Given the description of an element on the screen output the (x, y) to click on. 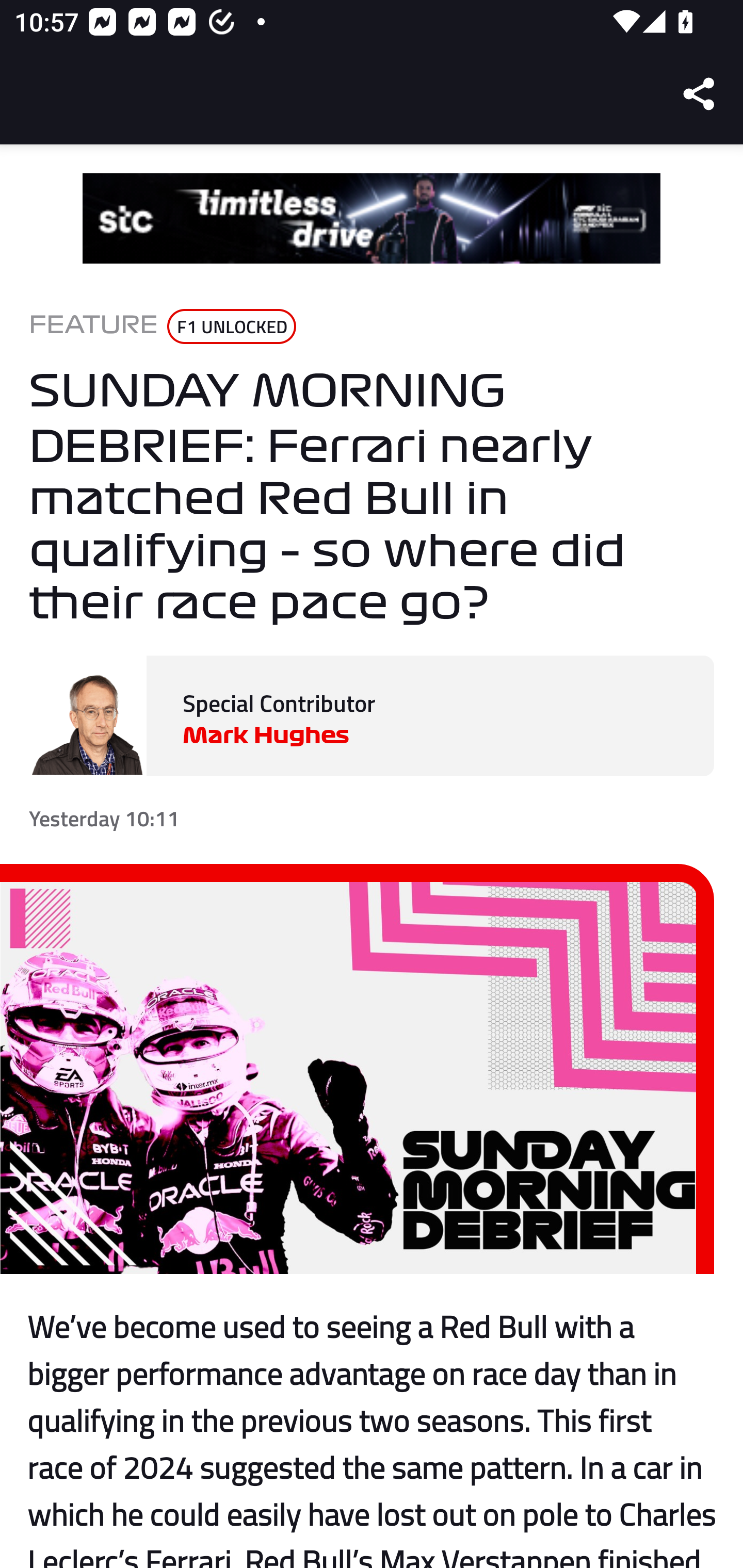
Share (699, 93)
who-we-are (371, 218)
